Given the description of an element on the screen output the (x, y) to click on. 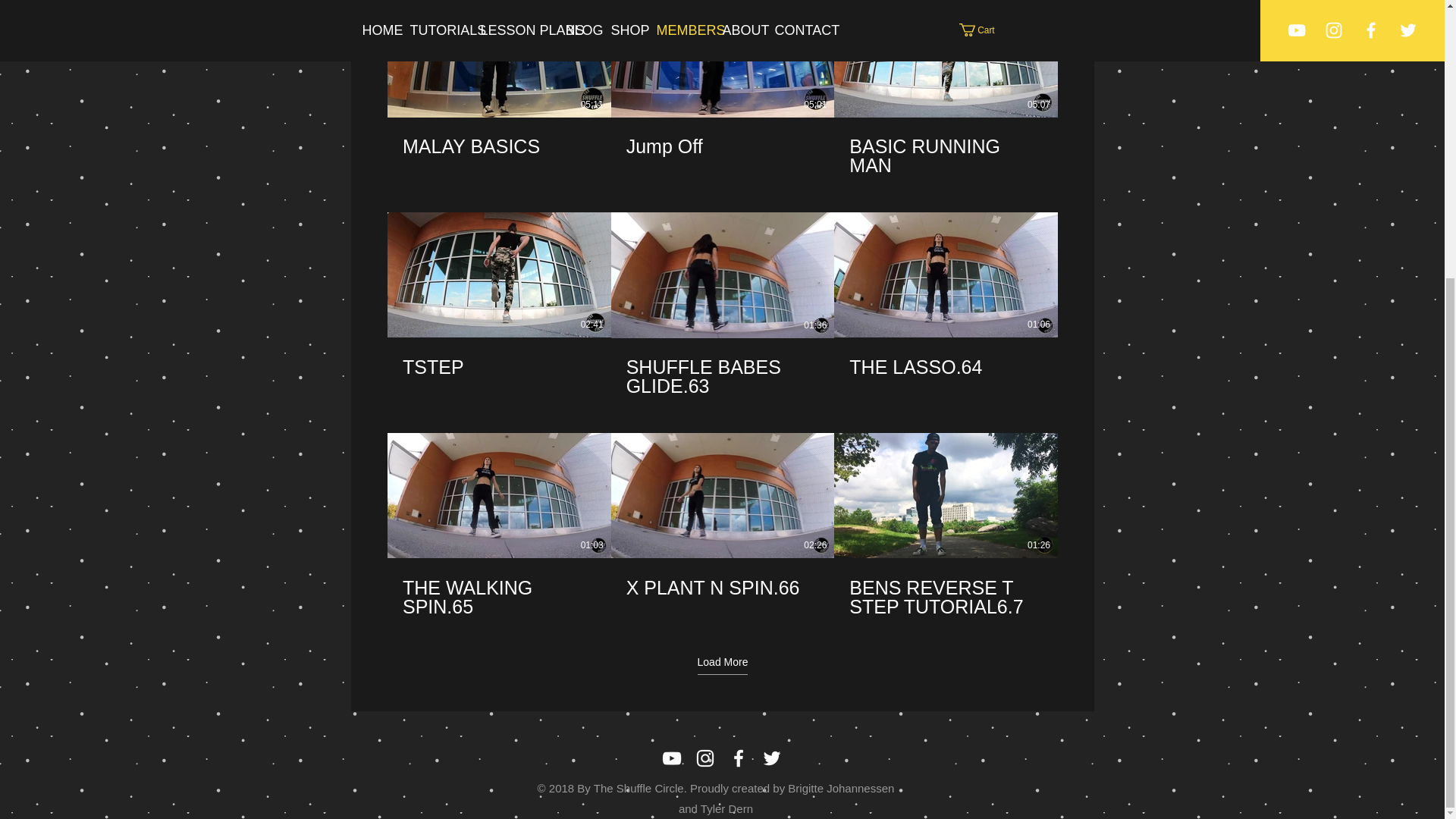
THE WALKING SPIN.65 (498, 587)
THE LASSO.64 (945, 366)
BENS REVERSE T STEP TUTORIAL6.7 (945, 597)
BASIC RUNNING MAN (945, 156)
TSTEP (498, 366)
X PLANT N SPIN.66 (722, 577)
SHUFFLE BABES GLIDE.63 (722, 376)
THE WALKING SPIN.65 (498, 597)
TSTEP (498, 357)
MALAY BASICS (498, 137)
MALAY BASICS (498, 146)
THE LASSO.64 (946, 357)
Jump Off (722, 146)
X PLANT N SPIN.66 (722, 587)
Jump Off (722, 137)
